Given the description of an element on the screen output the (x, y) to click on. 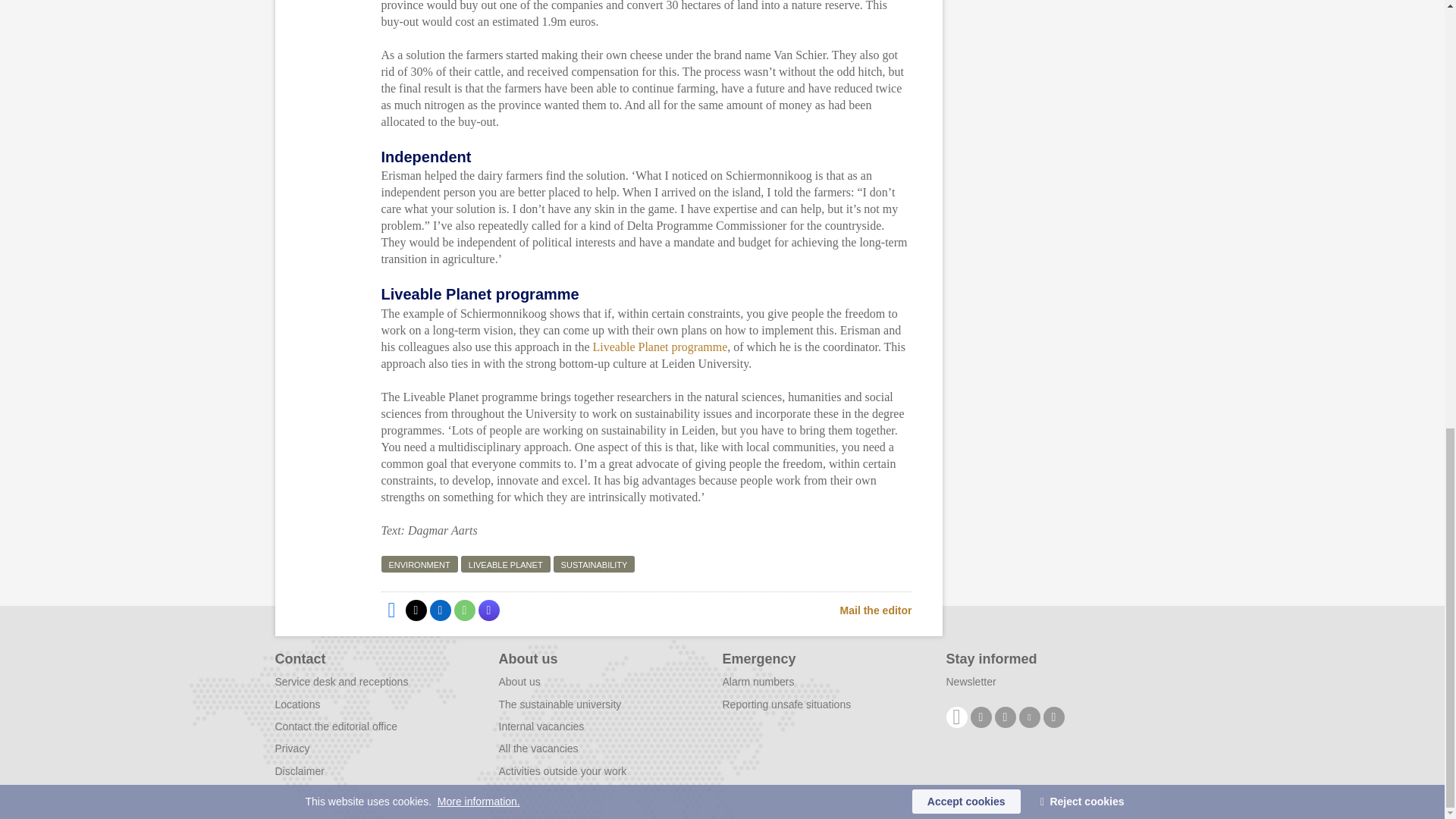
SUSTAINABILITY (593, 564)
Share on X (415, 609)
LIVEABLE PLANET (505, 564)
Share by WhatsApp (463, 609)
Share by Mastodon (488, 609)
ENVIRONMENT (418, 564)
Mail the editor (876, 609)
Share on Facebook (390, 609)
Share on LinkedIn (439, 609)
Liveable Planet programme (660, 346)
